Given the description of an element on the screen output the (x, y) to click on. 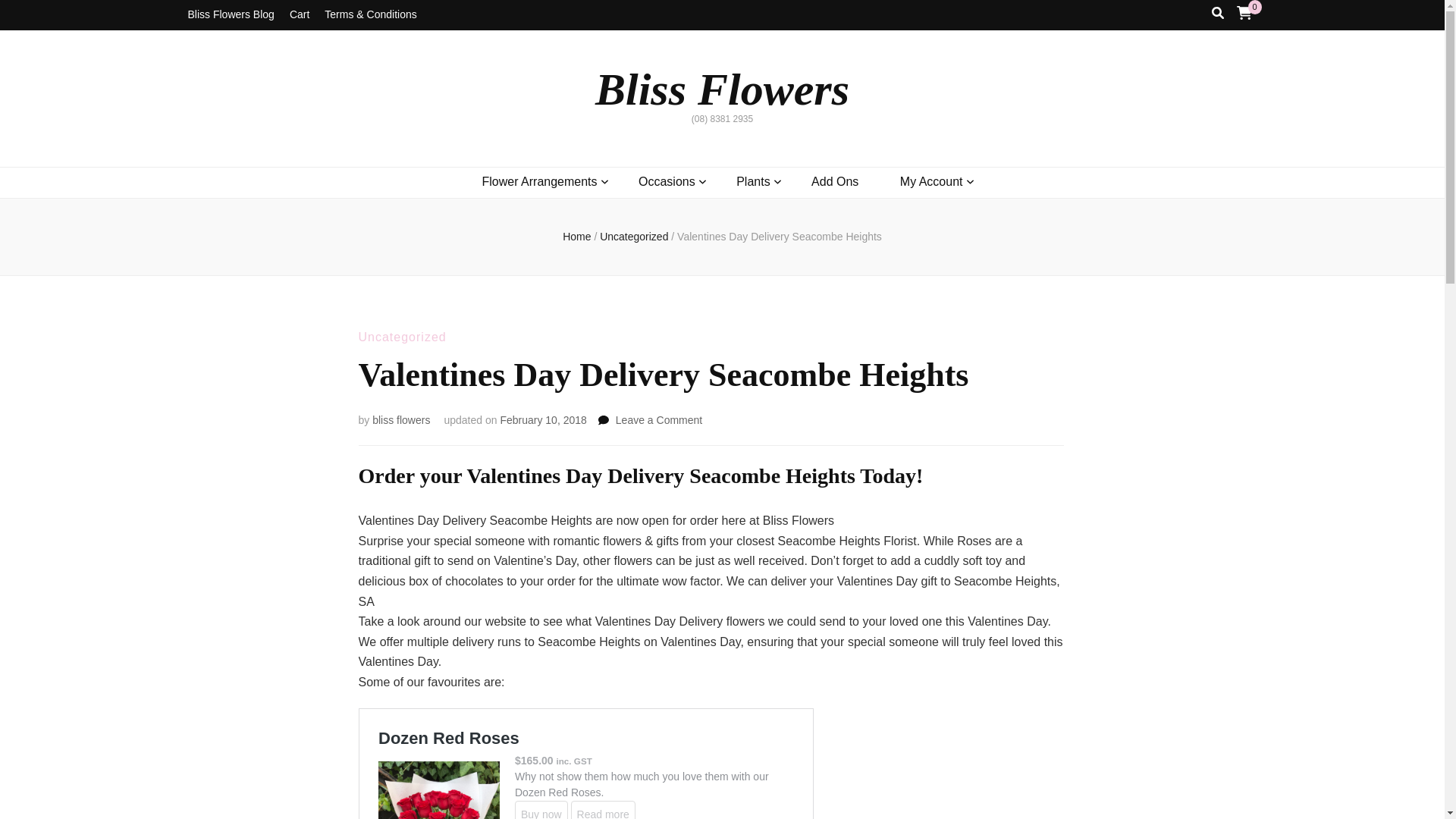
Bliss Flowers Blog (231, 15)
Cart (298, 15)
Flower Arrangements (538, 181)
Bliss Flowers (721, 89)
Occasions (667, 181)
Plants (753, 181)
View your shopping cart (1244, 12)
0 (1244, 12)
